Given the description of an element on the screen output the (x, y) to click on. 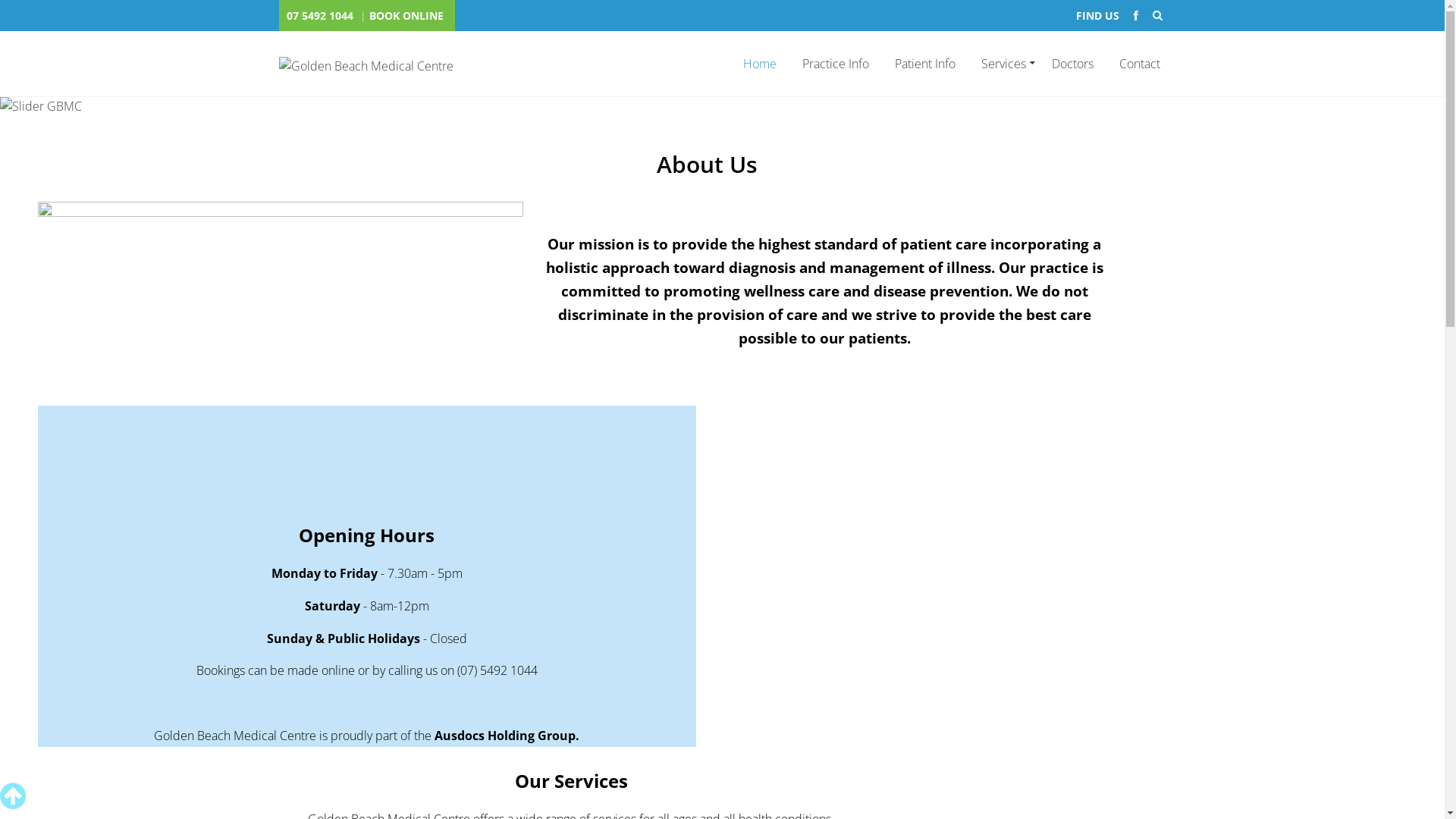
Contact Element type: text (1133, 63)
Practice Info Element type: text (835, 63)
Services Element type: text (1003, 63)
07 5492 1044 Element type: text (321, 15)
Patient Info Element type: text (924, 63)
online Element type: text (337, 670)
(07) 5492 1044 Element type: text (497, 670)
Doctors Element type: text (1072, 63)
BOOK ONLINE Element type: text (407, 15)
Home Element type: text (759, 63)
FIND US Element type: text (1097, 15)
